Given the description of an element on the screen output the (x, y) to click on. 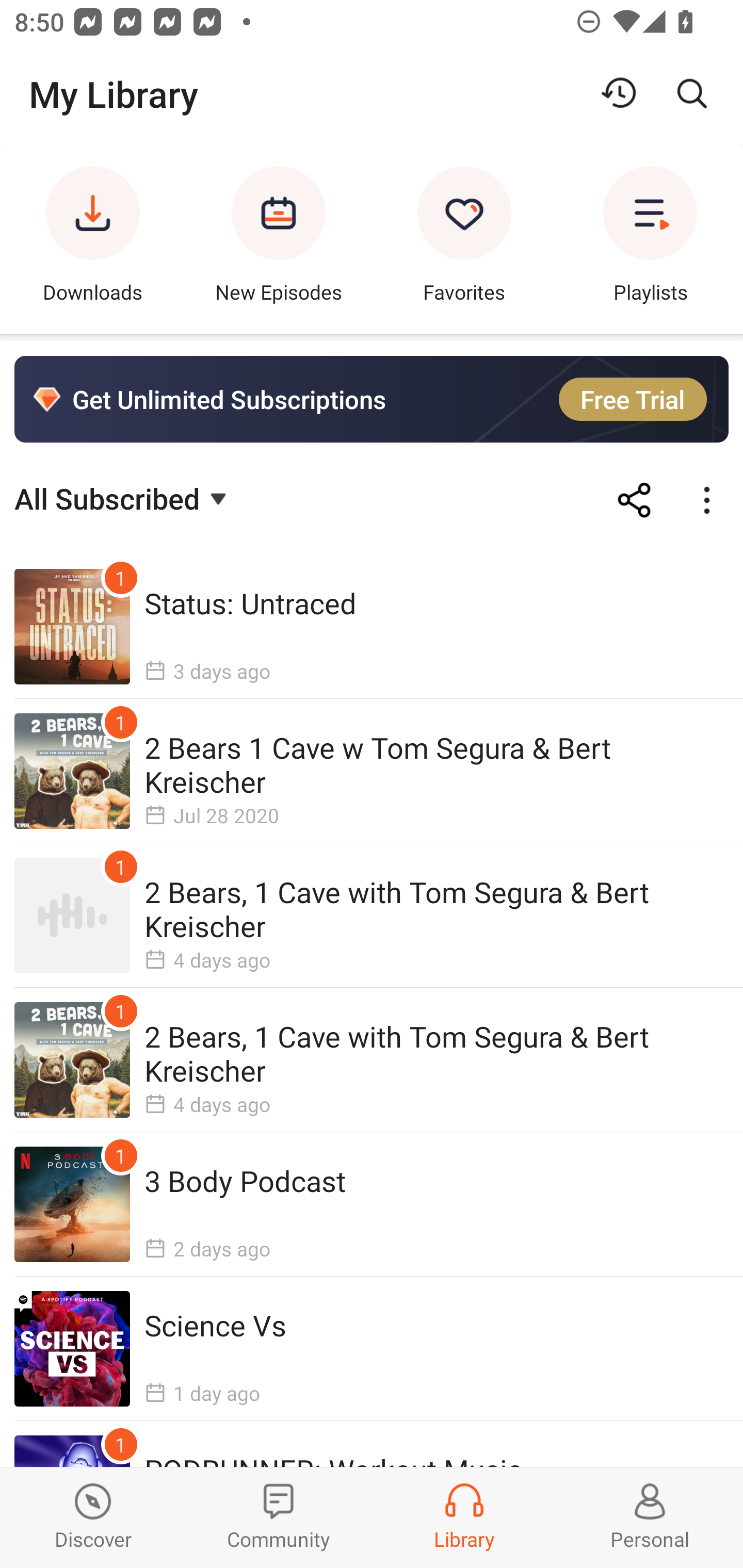
Downloads (92, 238)
New Episodes (278, 238)
Favorites (464, 238)
Playlists (650, 238)
Get Unlimited Subscriptions Free Trial (371, 398)
Free Trial (632, 398)
All Subscribed (123, 497)
Status: Untraced 1 Status: Untraced  3 days ago (371, 627)
3 Body Podcast 1 3 Body Podcast  2 days ago (371, 1204)
Science Vs Science Vs  1 day ago (371, 1348)
Discover (92, 1517)
Community (278, 1517)
Library (464, 1517)
Profiles and Settings Personal (650, 1517)
